Given the description of an element on the screen output the (x, y) to click on. 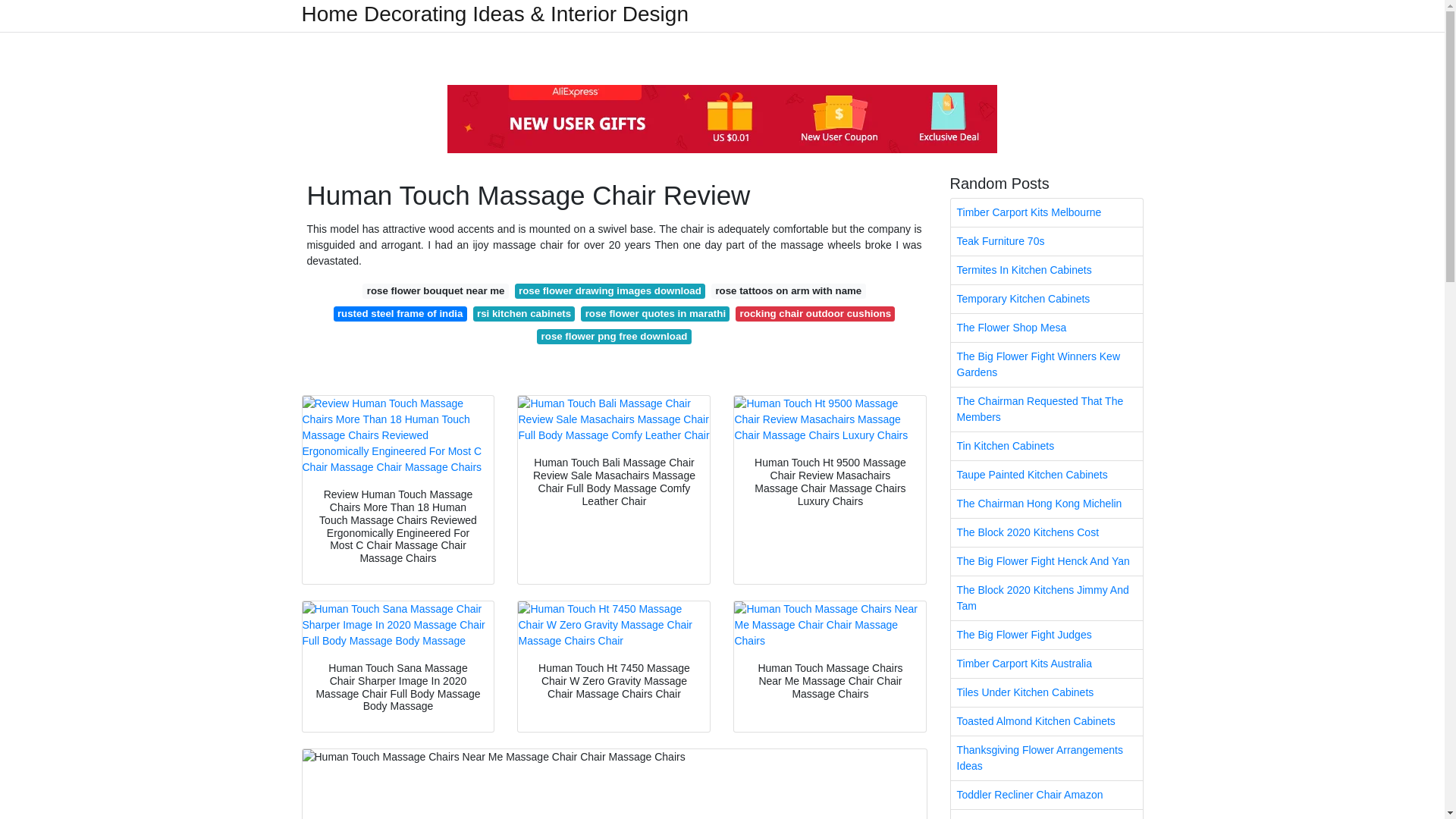
rose flower drawing images download (610, 290)
Tin Kitchen Cabinets (1046, 446)
rose flower png free download (613, 336)
Temporary Kitchen Cabinets (1046, 298)
Taupe Painted Kitchen Cabinets (1046, 474)
Timber Carport Kits Melbourne (1046, 212)
rocking chair outdoor cushions (815, 313)
rose flower quotes in marathi (654, 313)
Teak Furniture 70s (1046, 241)
Termites In Kitchen Cabinets (1046, 270)
